Given the description of an element on the screen output the (x, y) to click on. 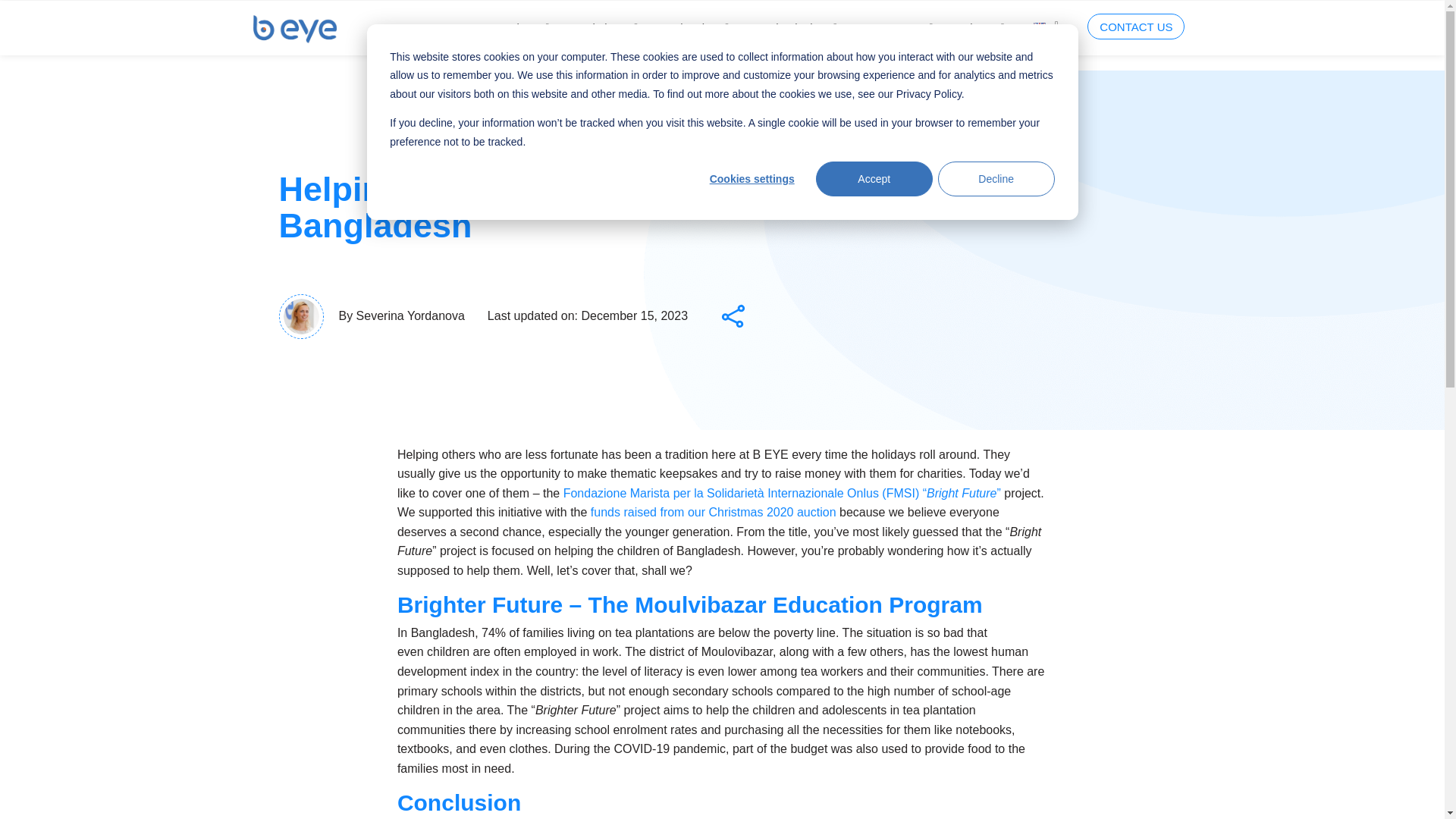
Solutions (602, 27)
Industries (691, 27)
Services (515, 27)
